Given the description of an element on the screen output the (x, y) to click on. 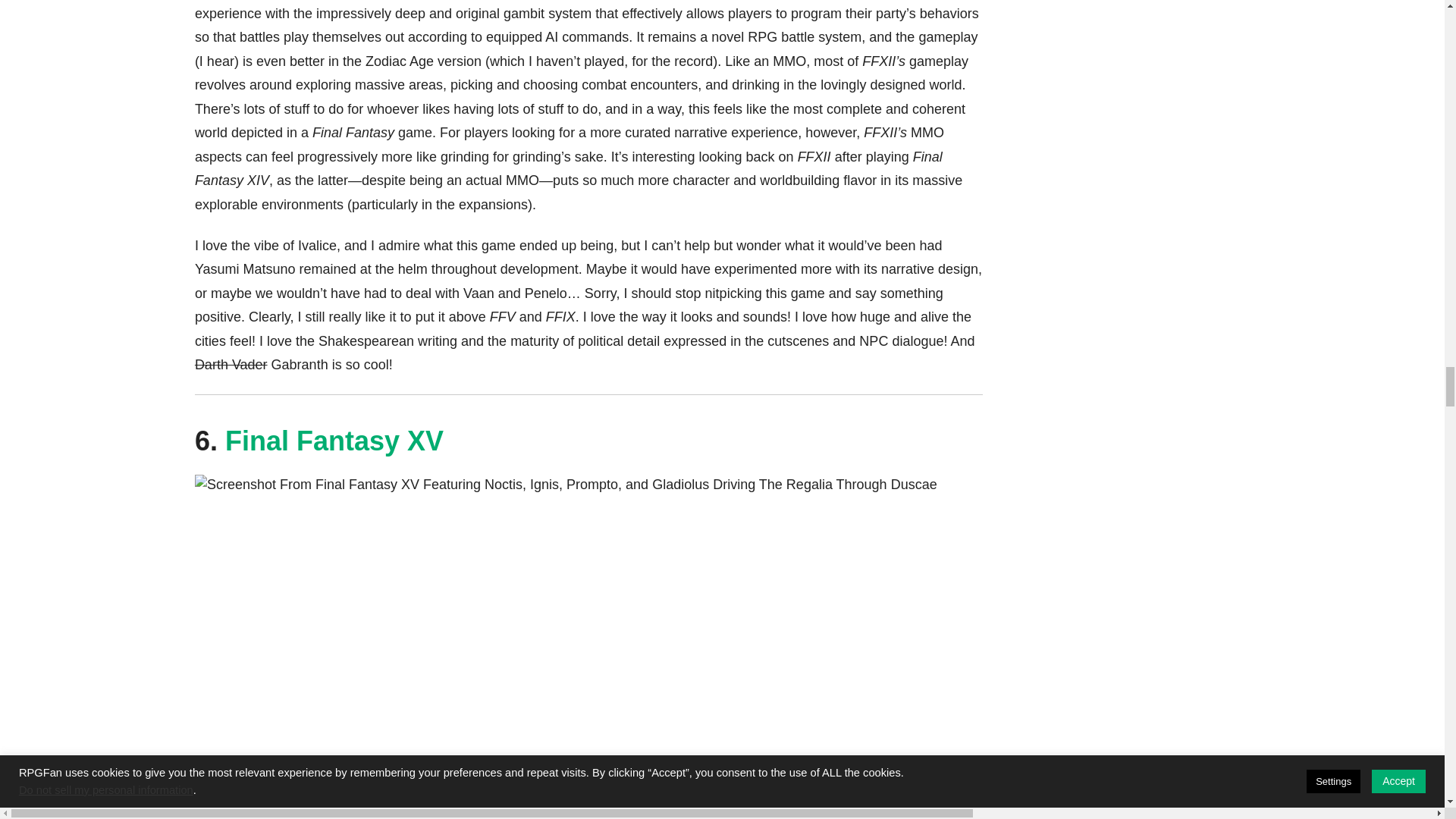
Final Fantasy XV (334, 440)
